Given the description of an element on the screen output the (x, y) to click on. 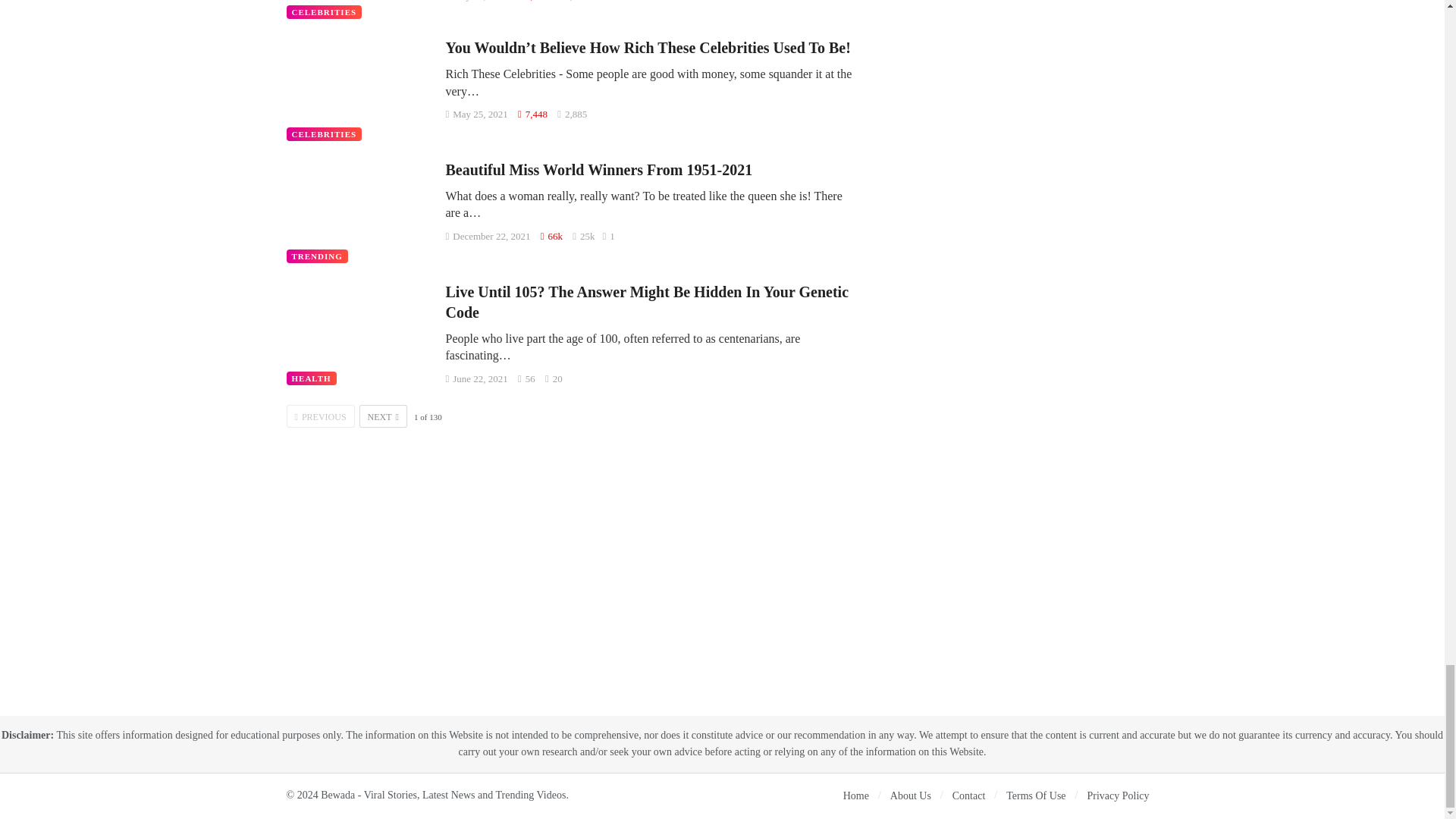
May 14, 2021 (476, 0)
Beautiful Miss World Winners From 1951-2021 (358, 210)
CELEBRITIES (324, 11)
May 25, 2021 (476, 113)
Beautiful Miss World Winners From 1951-2021 (598, 169)
CELEBRITIES (324, 133)
